Given the description of an element on the screen output the (x, y) to click on. 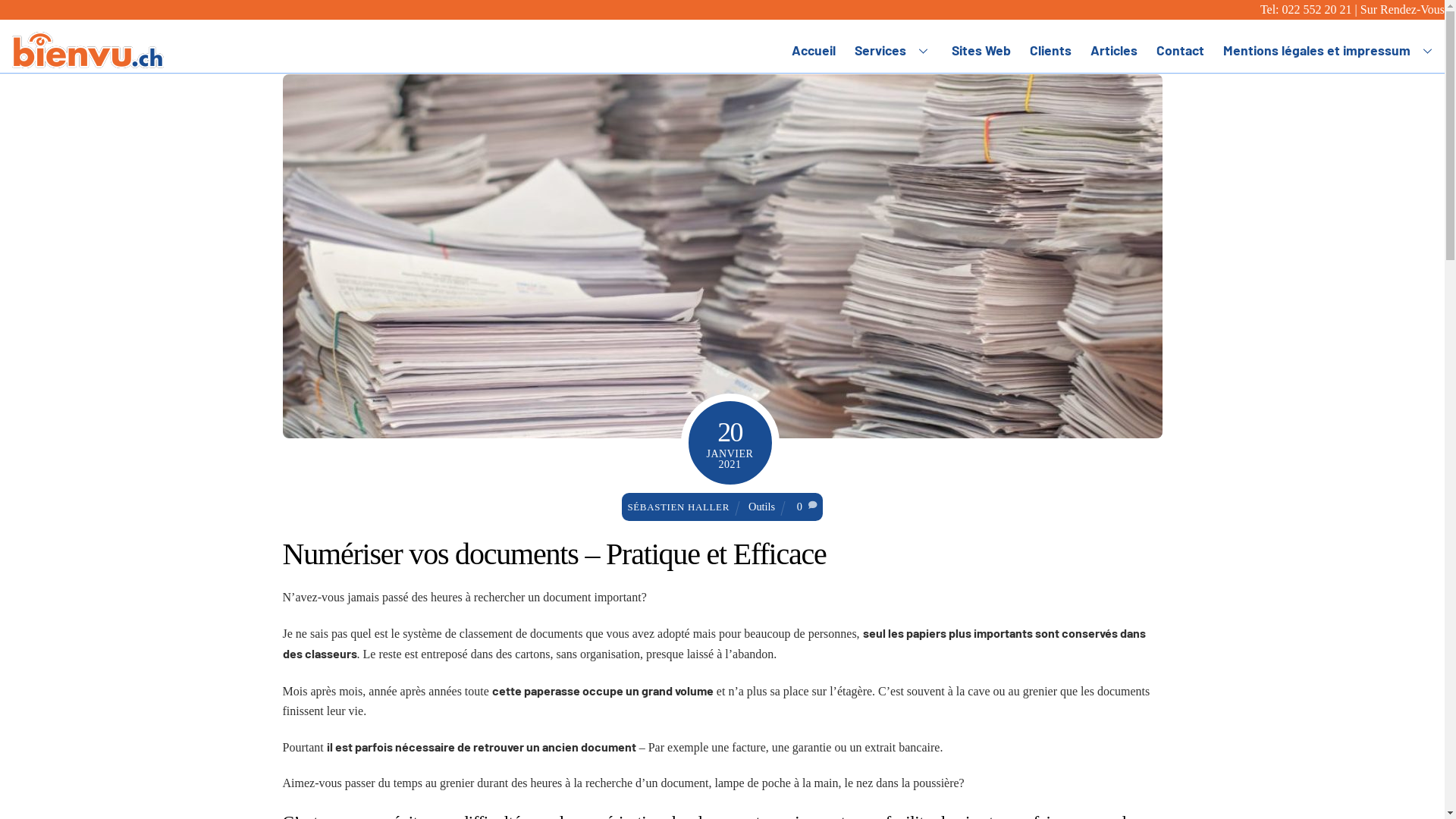
logo_transparent_stroke Element type: hover (87, 49)
Sites Web Element type: text (980, 49)
pile_of_paper_documents_in_the_office-scaled[1] Element type: hover (721, 256)
Contact Element type: text (1179, 49)
Clients Element type: text (1050, 49)
Outils Element type: text (761, 506)
Articles Element type: text (1113, 49)
Accueil Element type: text (813, 49)
Services Element type: text (894, 49)
0 Element type: text (799, 506)
